Given the description of an element on the screen output the (x, y) to click on. 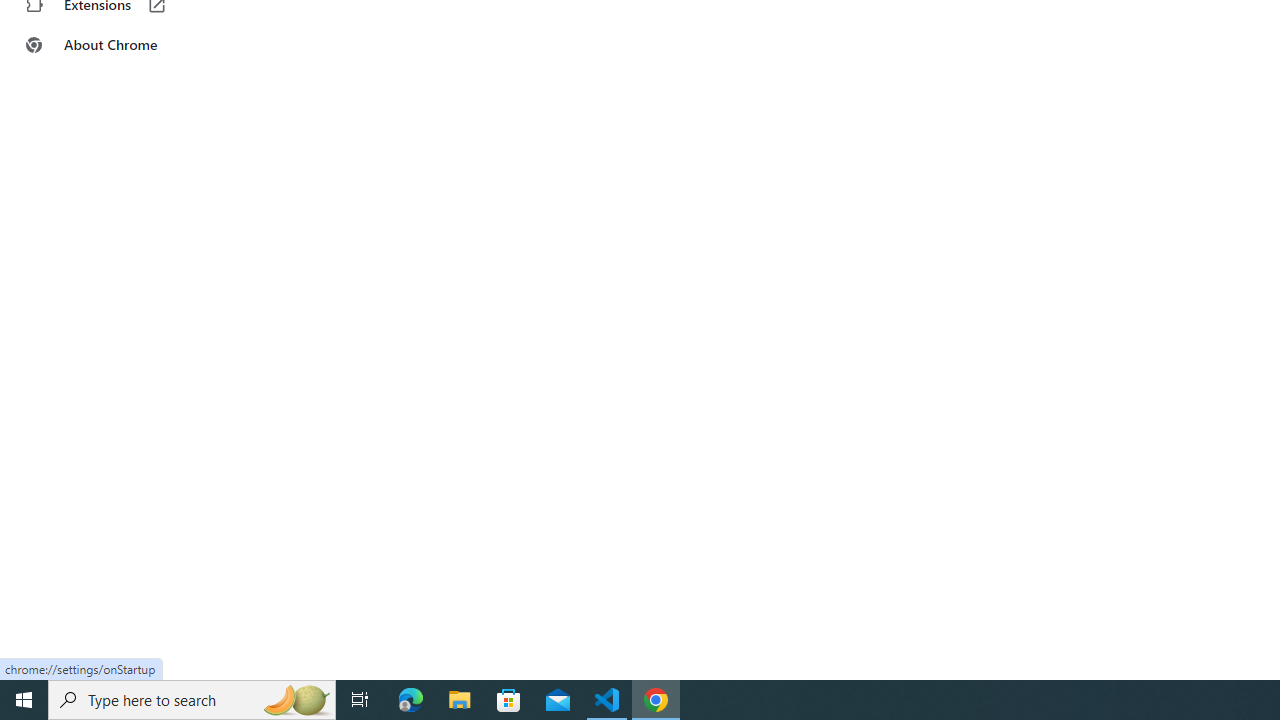
About Chrome (124, 44)
